Given the description of an element on the screen output the (x, y) to click on. 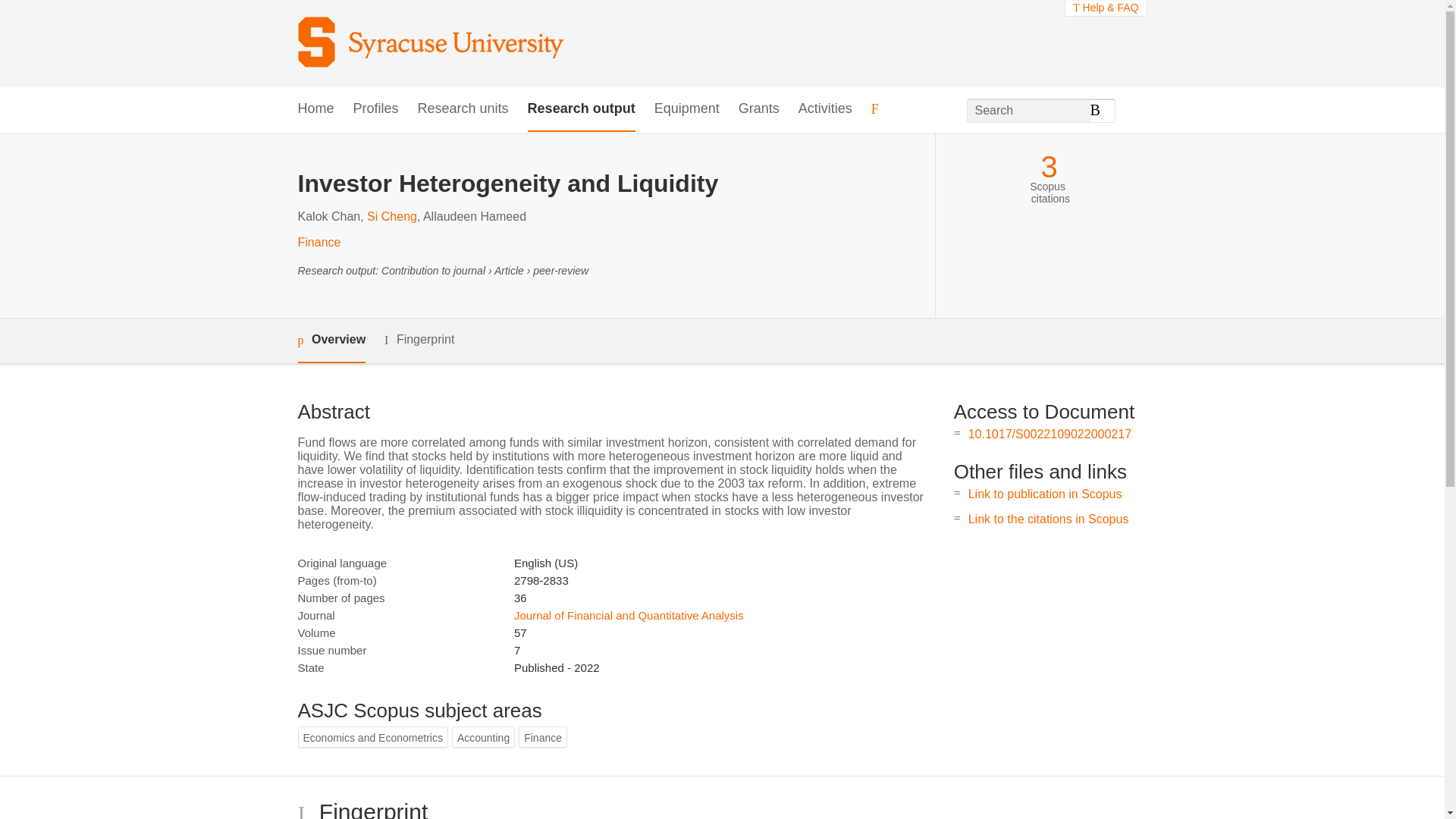
Overview (331, 340)
Activities (824, 108)
Research units (462, 108)
Equipment (686, 108)
Fingerprint (419, 339)
Link to the citations in Scopus (1048, 518)
Research output (580, 108)
Finance (318, 241)
Link to publication in Scopus (1045, 493)
Journal of Financial and Quantitative Analysis (628, 615)
